Given the description of an element on the screen output the (x, y) to click on. 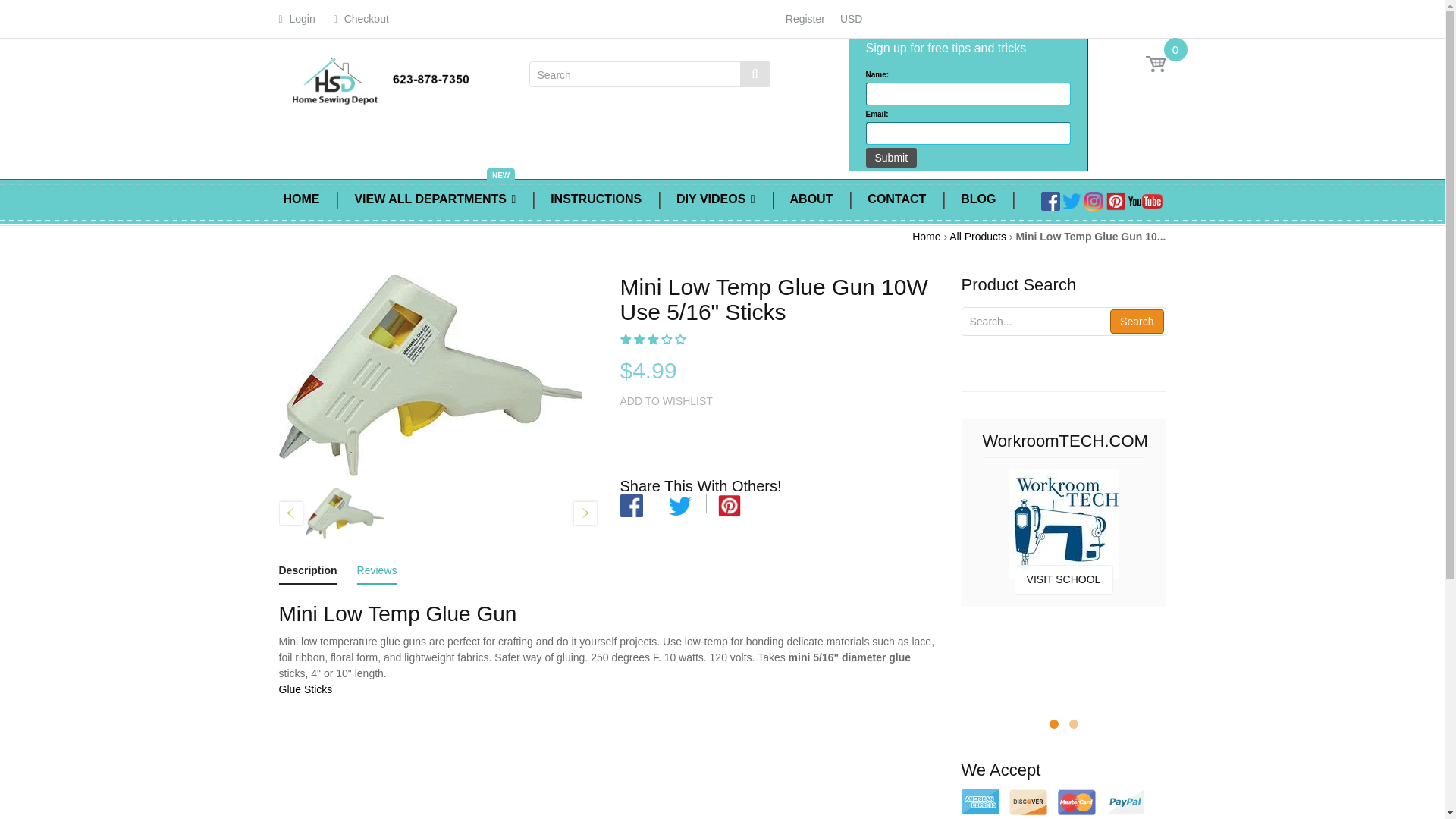
Twitter (1071, 200)
Share this on Facebook (631, 505)
All Products (977, 236)
Pinterest (1115, 200)
Twitter (679, 505)
Instagram (1093, 200)
Submit (891, 157)
Add to wishlist (666, 401)
cart (1155, 63)
Home (926, 236)
